Given the description of an element on the screen output the (x, y) to click on. 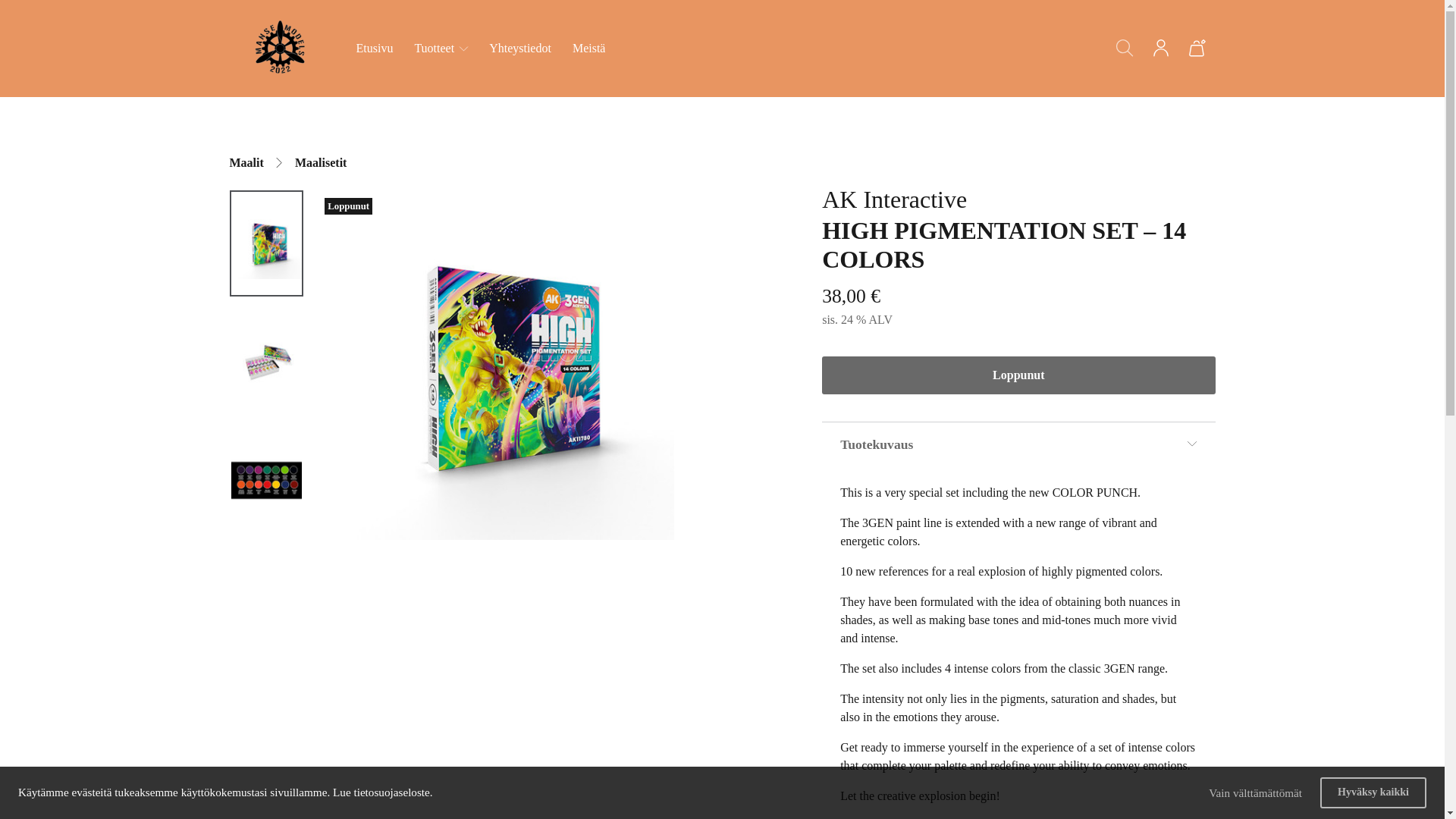
Maalit (245, 162)
Etusivu (374, 49)
Yhteystiedot (520, 49)
